Given the description of an element on the screen output the (x, y) to click on. 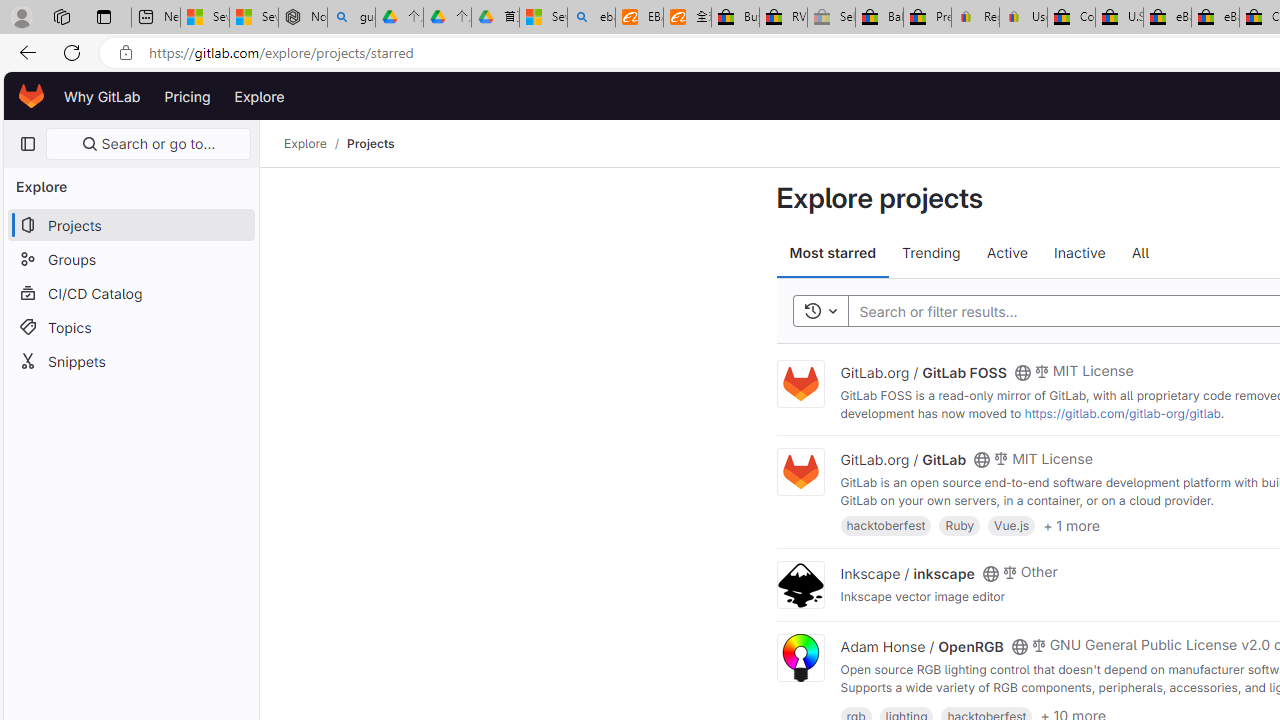
U.S. State Privacy Disclosures - eBay Inc. (1119, 17)
Inkscape / inkscape (907, 572)
Active (1006, 253)
